Given the description of an element on the screen output the (x, y) to click on. 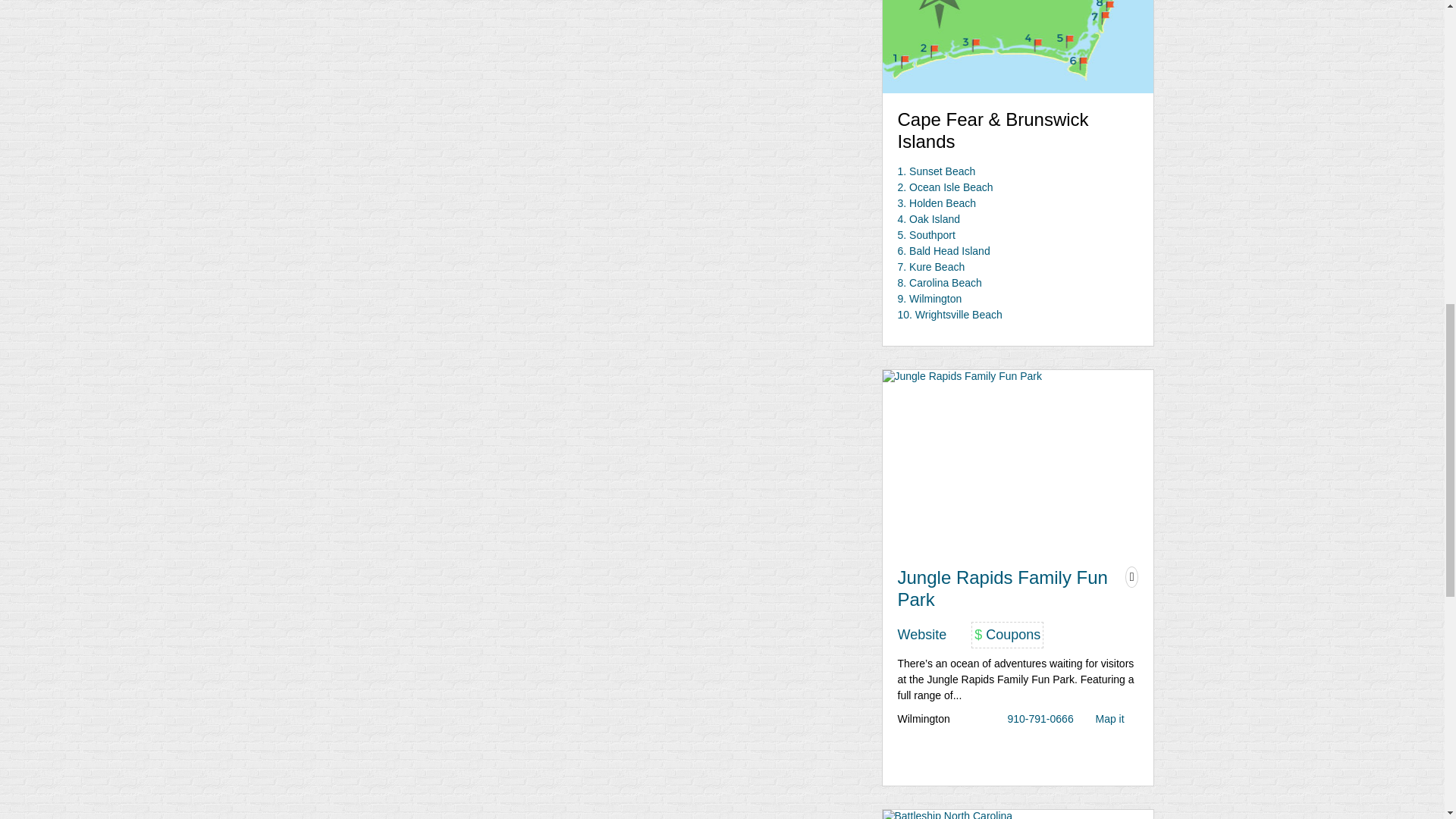
3. Holden Beach (937, 203)
7. Kure Beach (931, 266)
2. Ocean Isle Beach (945, 186)
8. Carolina Beach (939, 282)
FareHarbor (1342, 64)
1. Sunset Beach (936, 171)
6. Bald Head Island (944, 250)
4. Oak Island (929, 218)
5. Southport (926, 234)
